Given the description of an element on the screen output the (x, y) to click on. 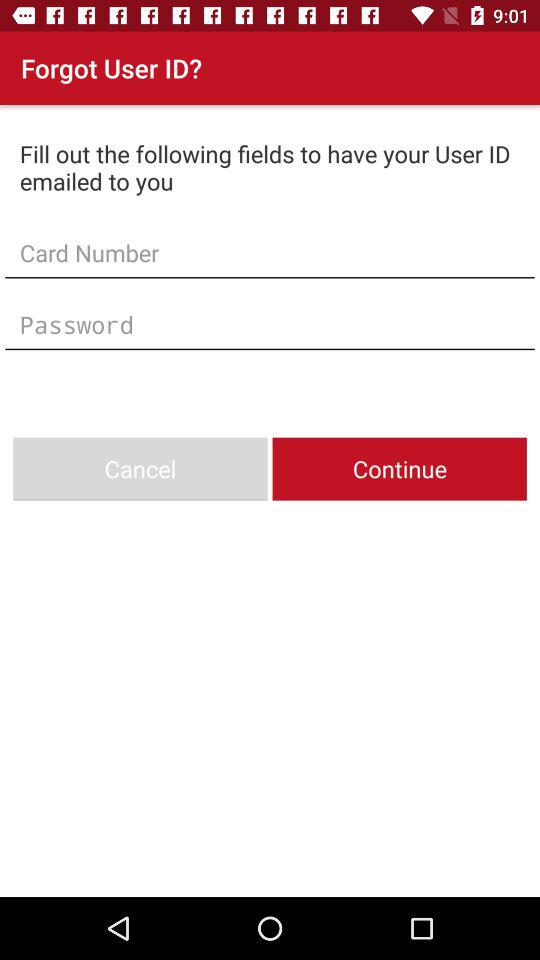
turn on continue item (399, 468)
